Given the description of an element on the screen output the (x, y) to click on. 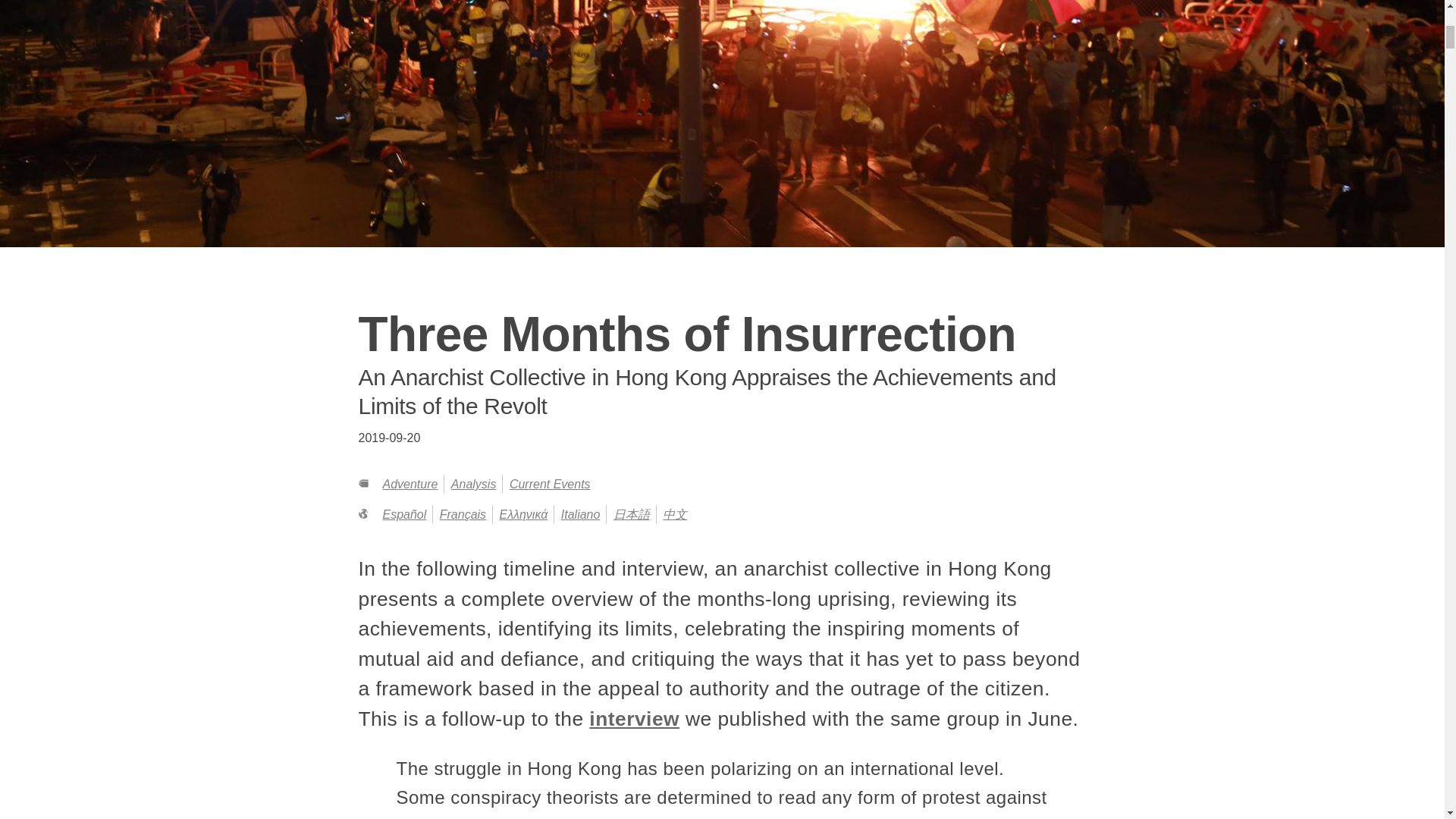
Current Events (550, 483)
interview (634, 718)
Analysis (473, 483)
Italiano (579, 513)
Adventure (409, 483)
